Given the description of an element on the screen output the (x, y) to click on. 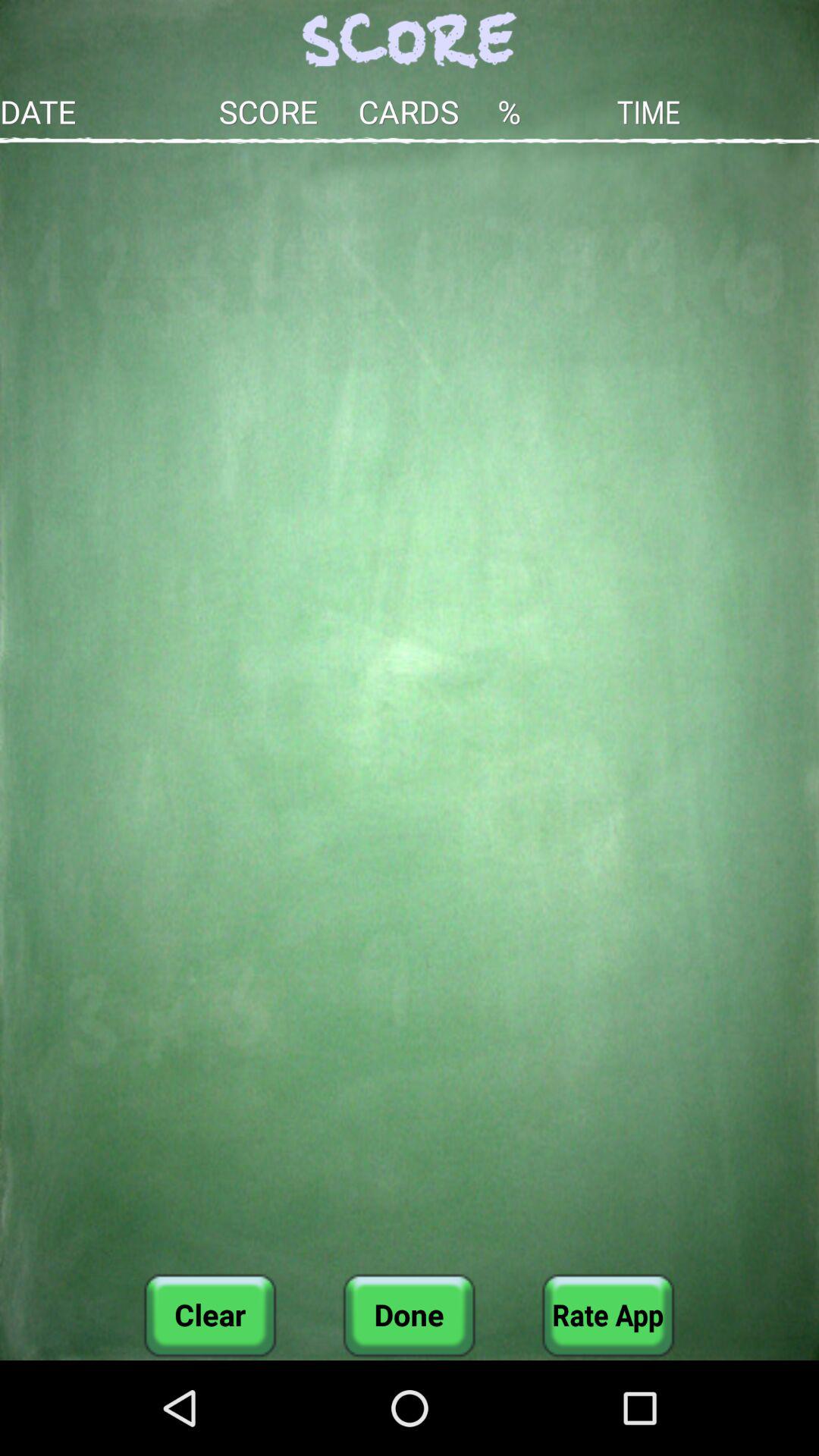
tap the item at the center (409, 708)
